Given the description of an element on the screen output the (x, y) to click on. 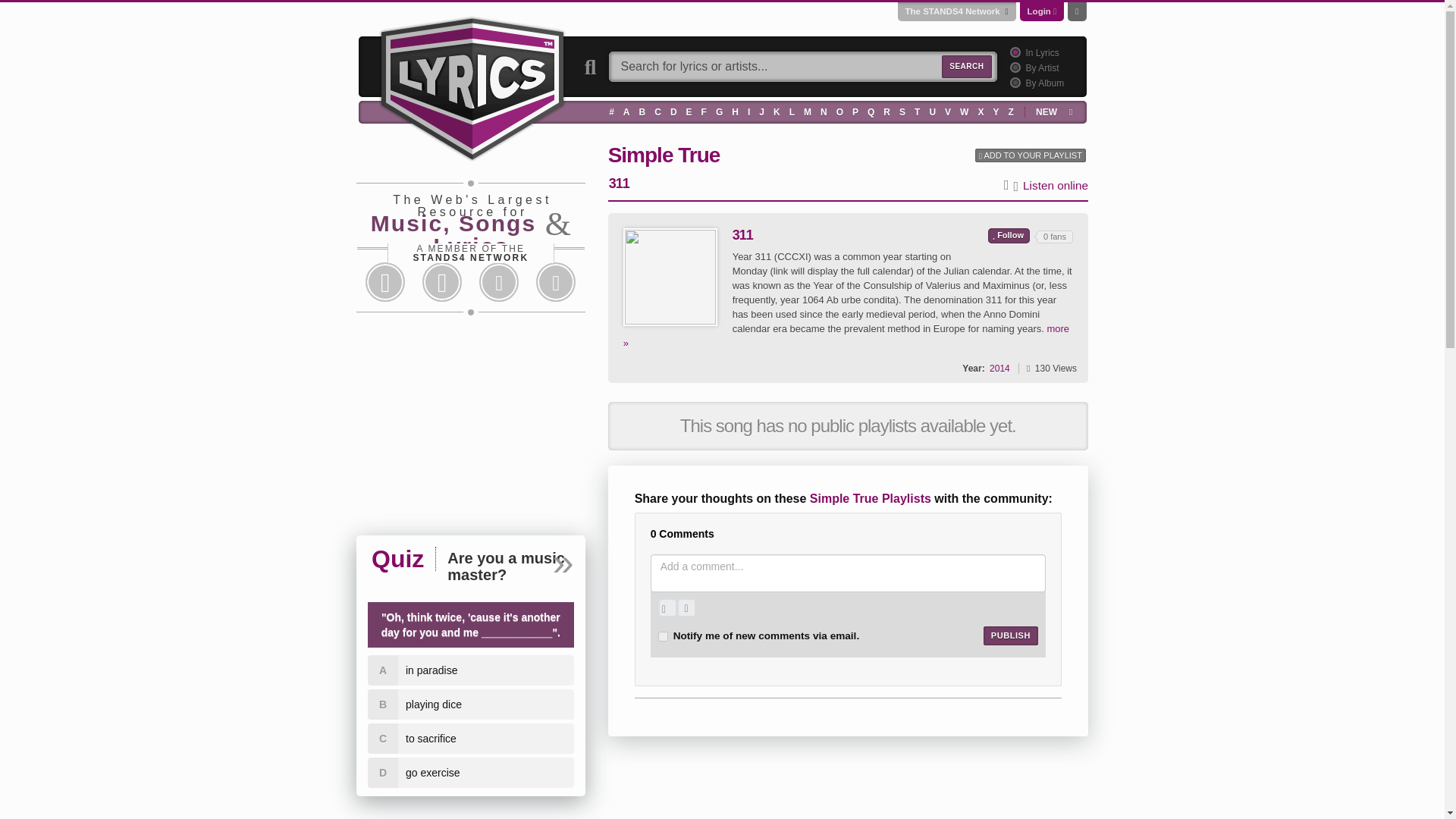
See all songs from this year (1000, 367)
Login (1039, 10)
click to add Simple True to your playlist (1030, 155)
Record a sound (686, 607)
311 (670, 277)
Lyrics.com (471, 86)
click to add your vote (1008, 235)
2 (1013, 67)
Share this page on Facebook (384, 282)
Share this page on Twitter (441, 282)
Upload an image (667, 607)
Listen to this song on Amazon (1055, 185)
Share this page on Reddit (498, 282)
SEARCH (966, 66)
3 (1013, 81)
